Given the description of an element on the screen output the (x, y) to click on. 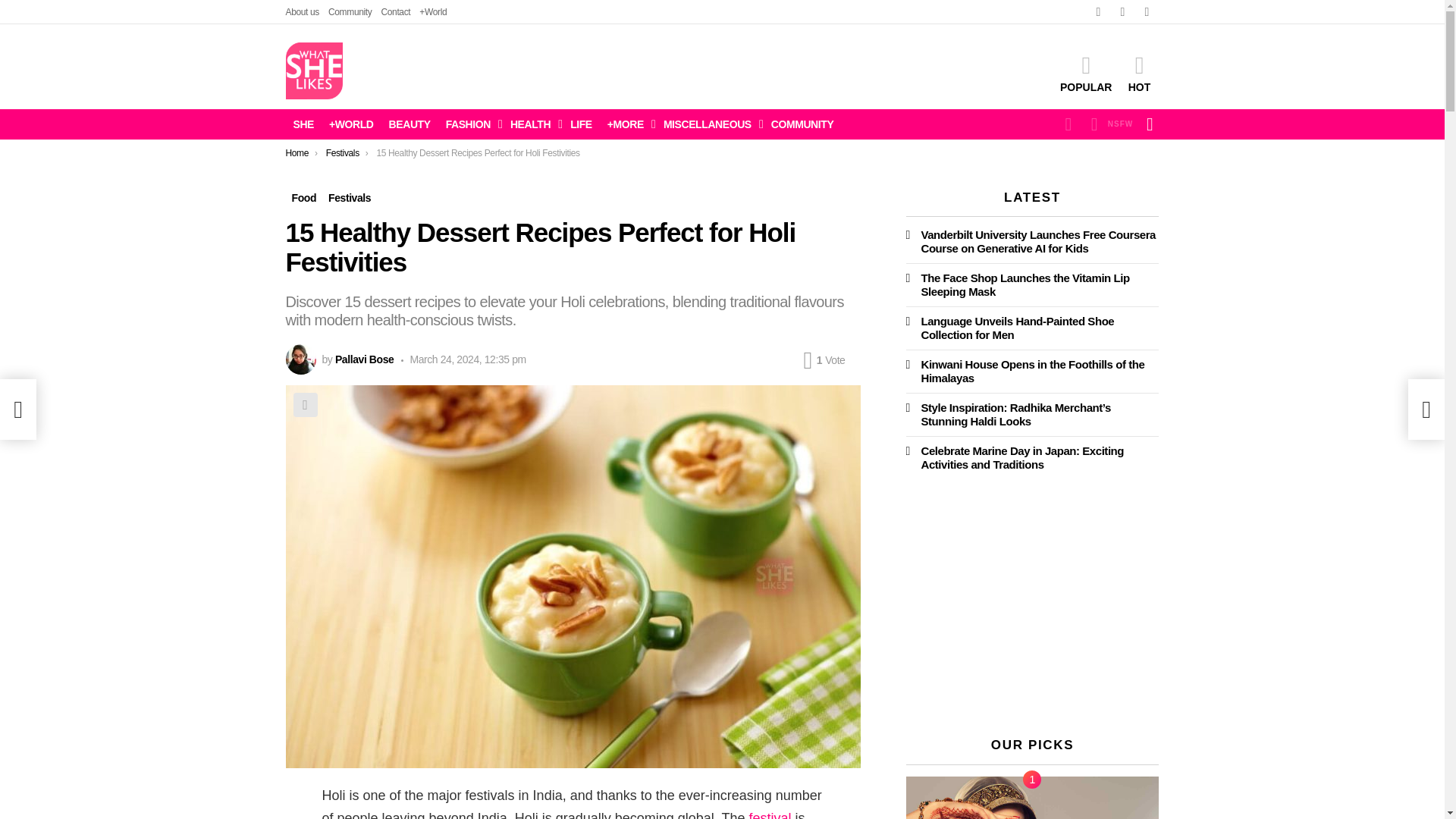
POPULAR (1085, 73)
Contact (395, 12)
About us (301, 12)
Facebook (1097, 11)
Twitter (1121, 11)
HEALTH (532, 124)
BEAUTY (409, 124)
Posts by Pallavi Bose (363, 358)
Toggle NSFW (1108, 123)
Instagram (1146, 11)
HOT (1138, 73)
FASHION (470, 124)
SHE (303, 124)
Community (350, 12)
LIFE (580, 124)
